Given the description of an element on the screen output the (x, y) to click on. 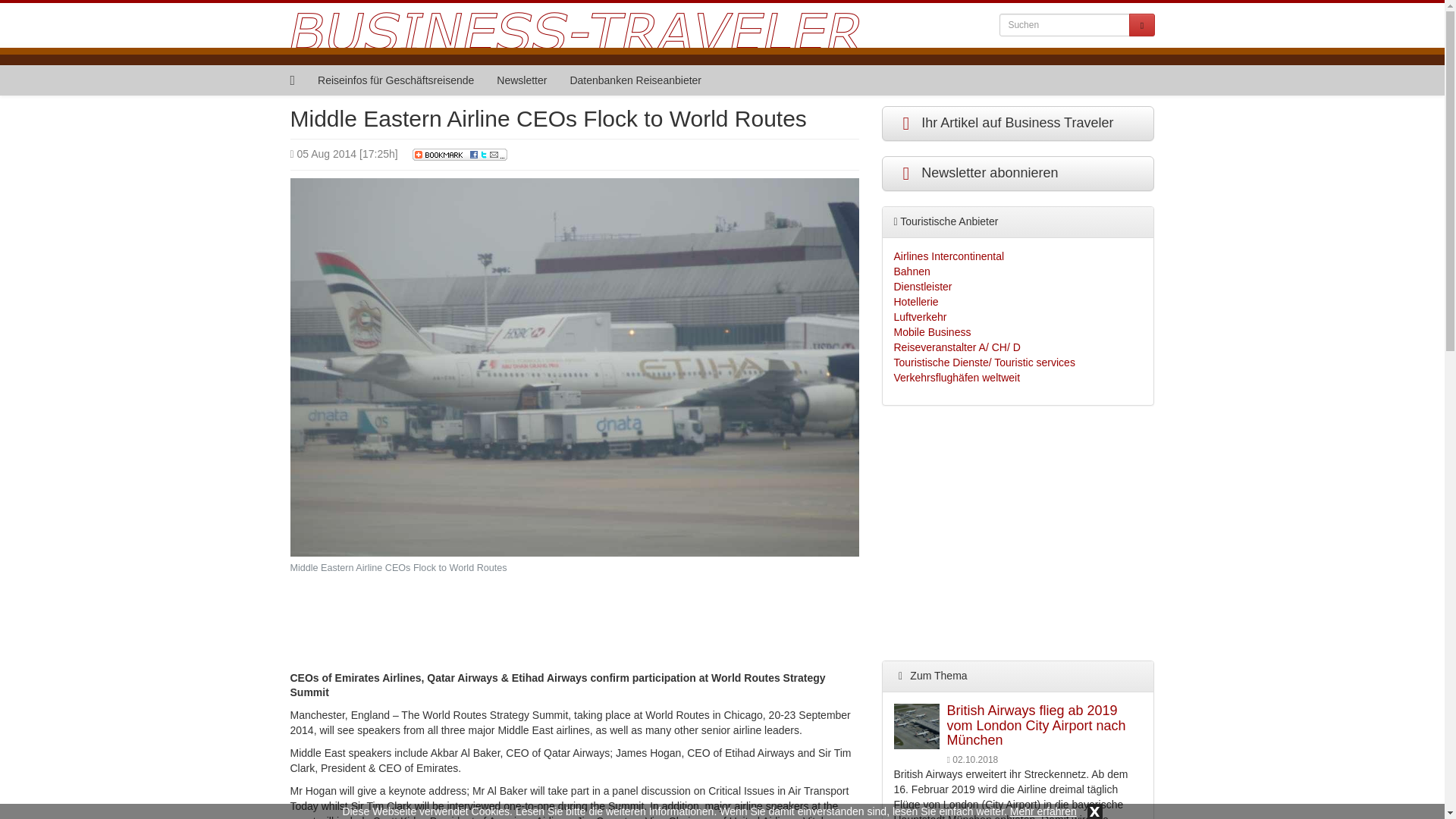
Luftverkehr (919, 316)
Mehr erfahren (1043, 811)
Bahnen (911, 271)
x (1094, 811)
Datenbanken Reiseanbieter (635, 80)
Newsletter abonnieren (1017, 173)
Hotellerie (915, 301)
Airlines Intercontinental (948, 256)
Business Traveler (575, 22)
Ihr Artikel auf Business Traveler (1017, 123)
